Given the description of an element on the screen output the (x, y) to click on. 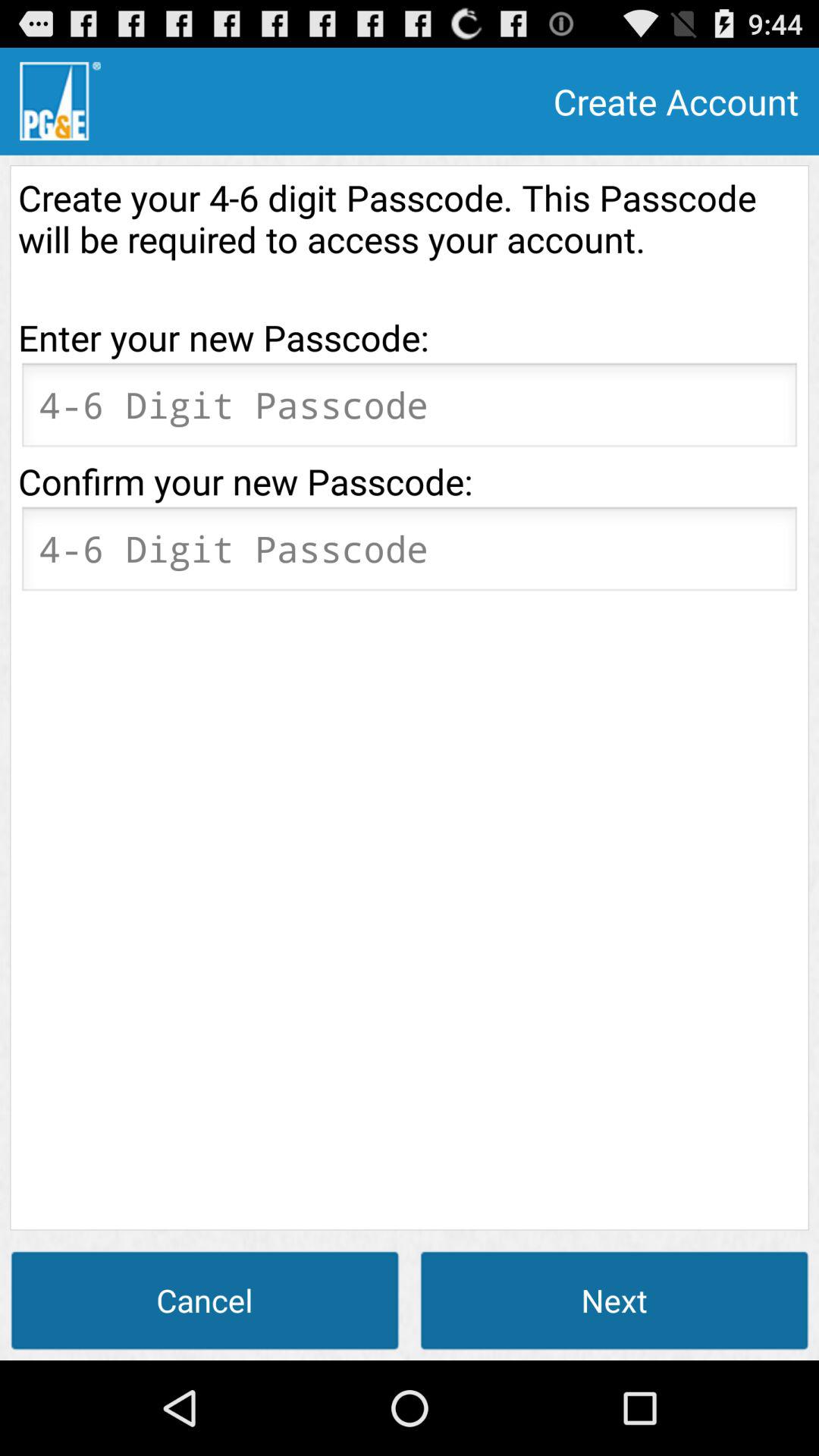
tap the next item (613, 1300)
